Given the description of an element on the screen output the (x, y) to click on. 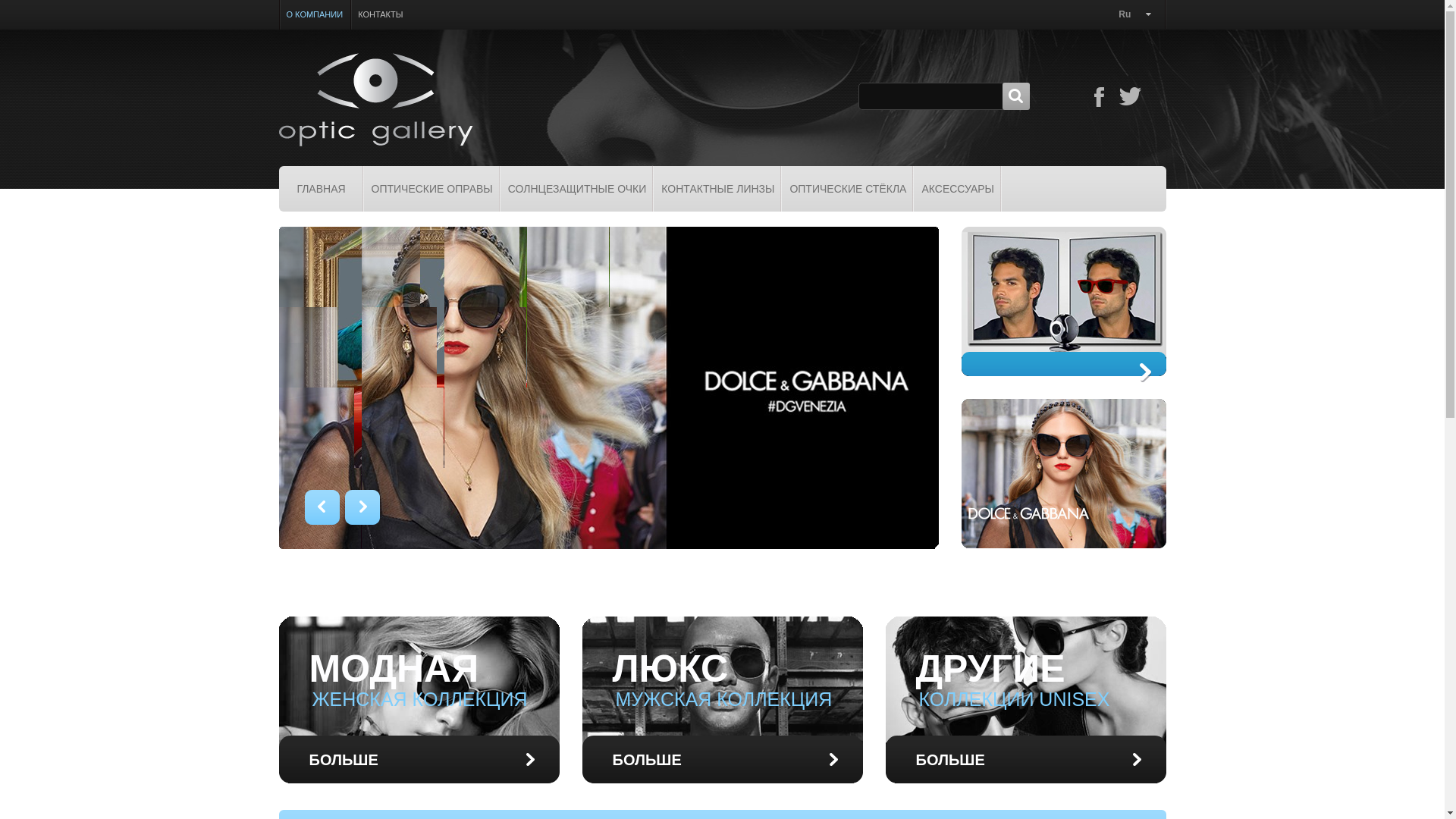
Optic Gallery Element type: hover (376, 99)
Prev Element type: text (321, 506)
Next Element type: text (361, 506)
